Given the description of an element on the screen output the (x, y) to click on. 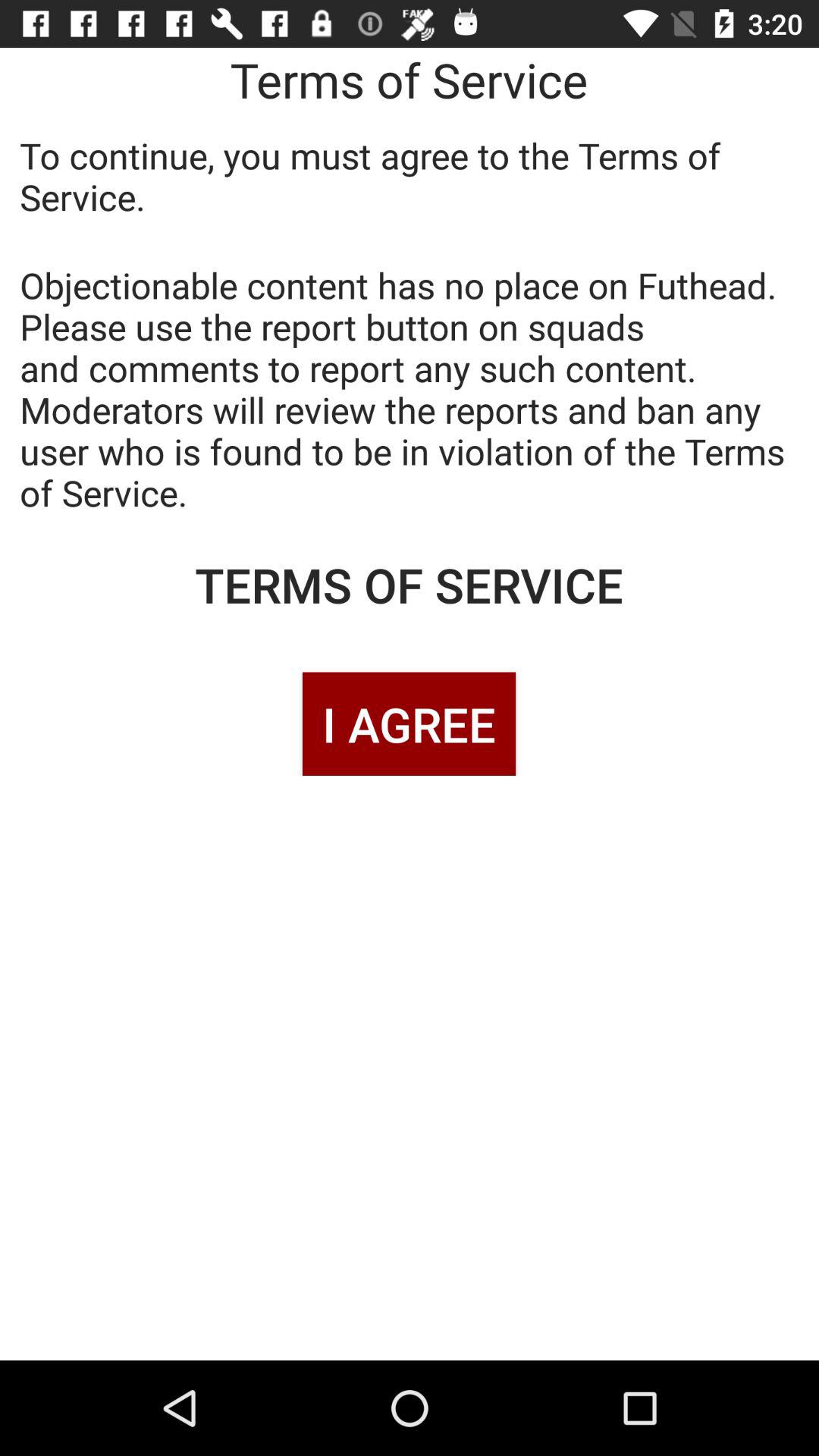
flip to i agree item (408, 723)
